Given the description of an element on the screen output the (x, y) to click on. 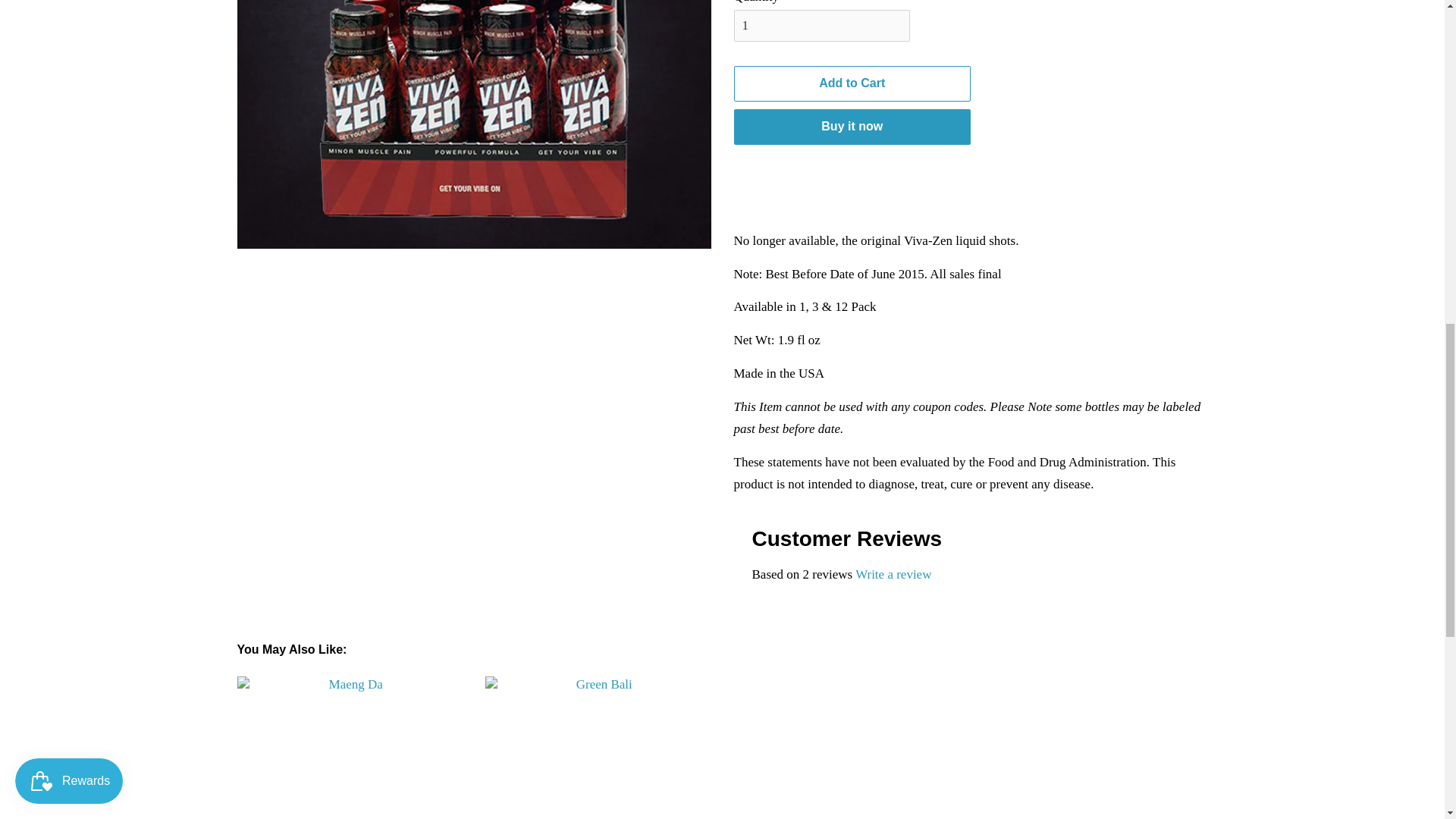
1 (821, 25)
